Given the description of an element on the screen output the (x, y) to click on. 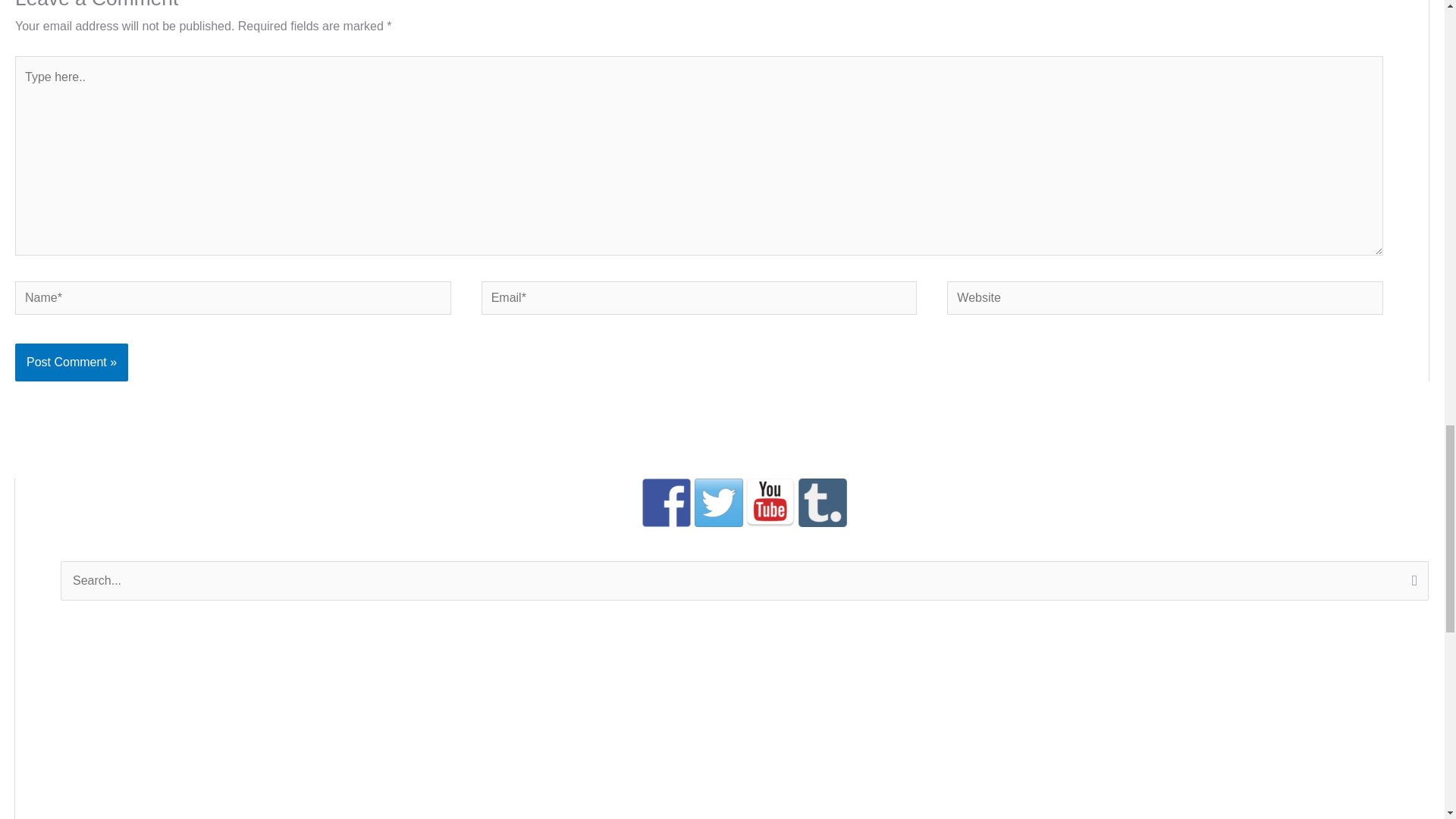
Advertisement (172, 726)
Search (1411, 582)
Search (1411, 582)
